Given the description of an element on the screen output the (x, y) to click on. 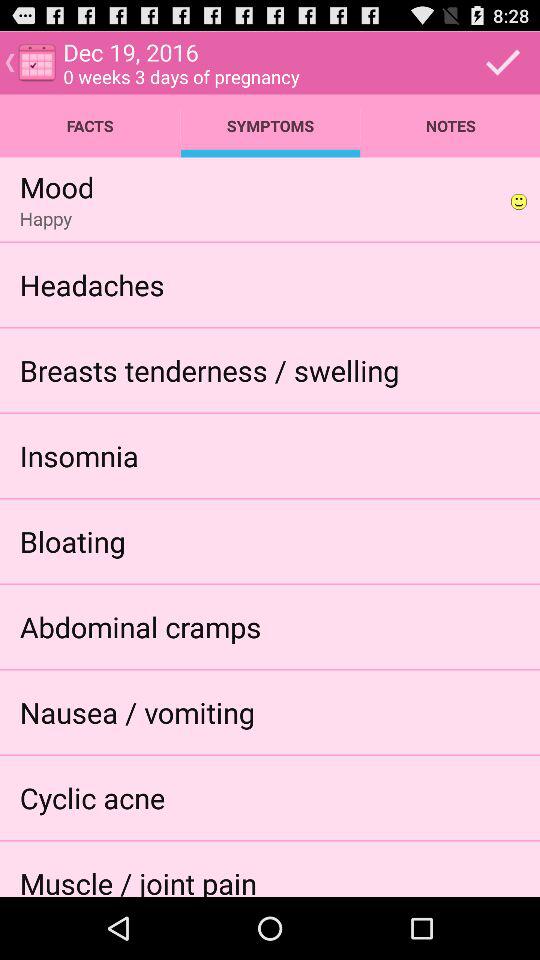
flip until headaches app (91, 284)
